Given the description of an element on the screen output the (x, y) to click on. 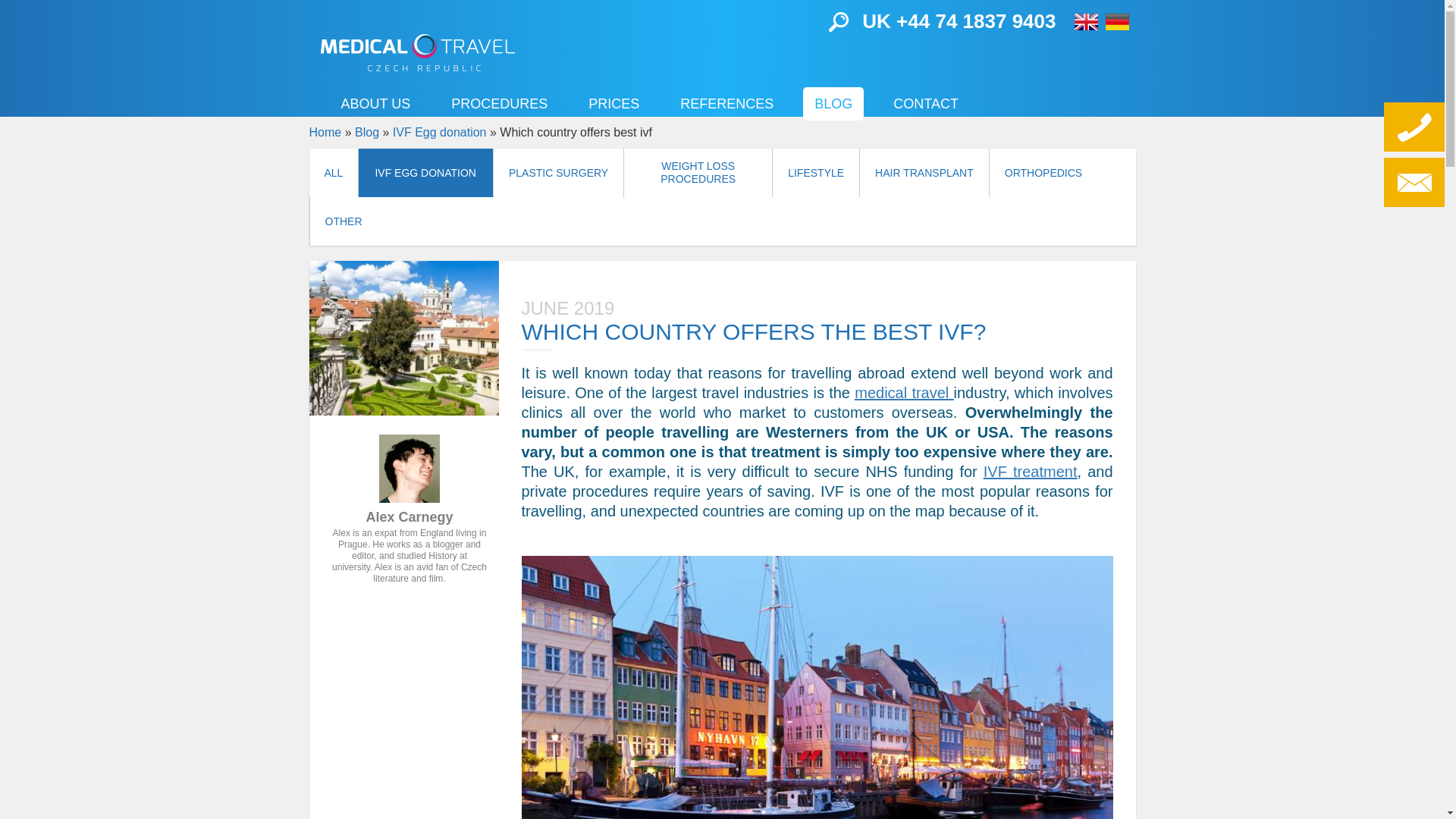
Deutsch (1117, 21)
Deutsch (1117, 21)
Home (416, 52)
English (1085, 21)
Which country offers the best IVF? (403, 338)
ABOUT US (375, 103)
English (1085, 21)
PROCEDURES (499, 103)
